Given the description of an element on the screen output the (x, y) to click on. 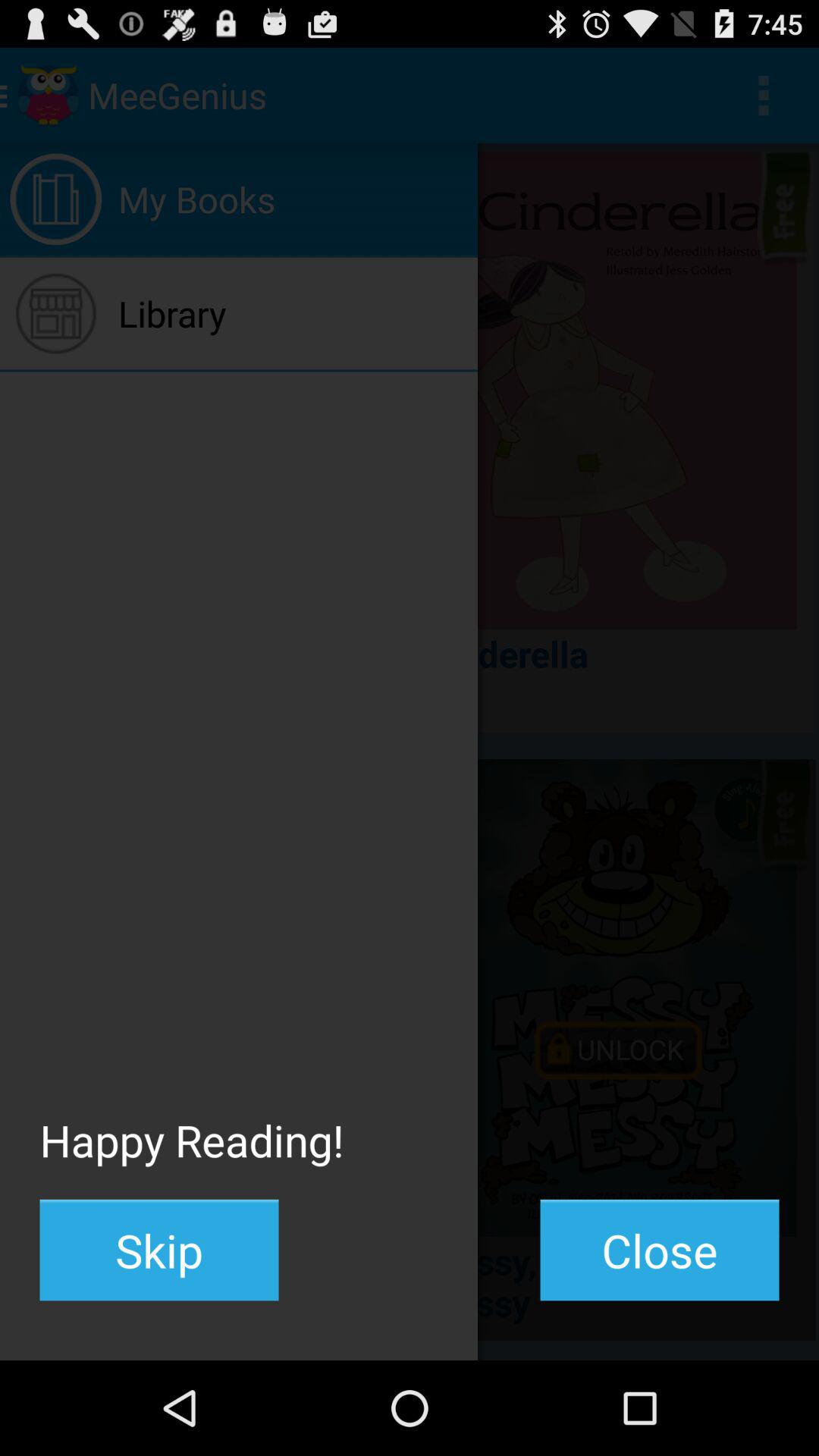
choose the item next to the close item (158, 1249)
